Given the description of an element on the screen output the (x, y) to click on. 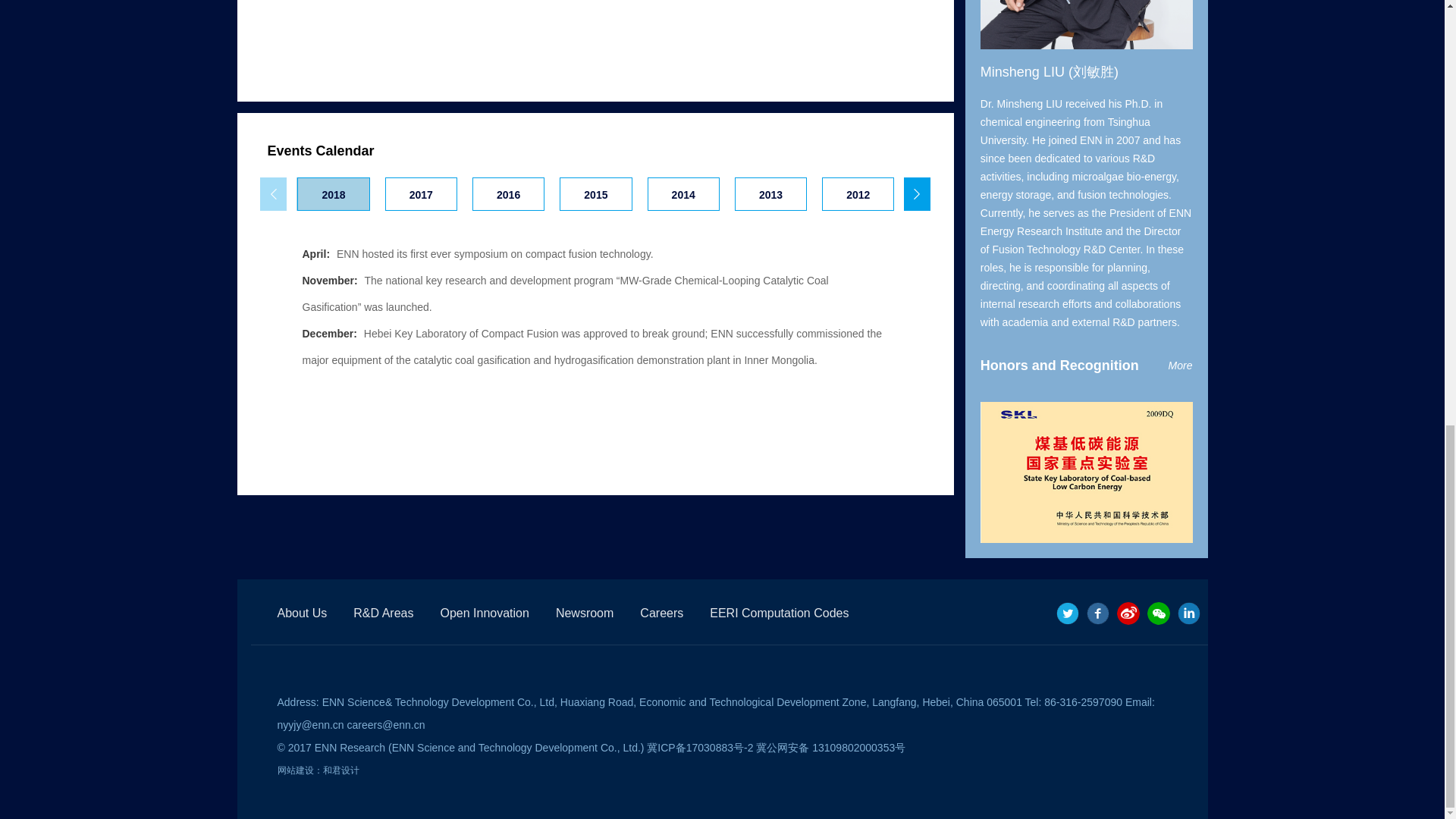
About Us (302, 612)
Newsroom (584, 612)
EERI Computation Codes (779, 612)
More (1180, 364)
Open Innovation (483, 612)
Careers (661, 612)
